Given the description of an element on the screen output the (x, y) to click on. 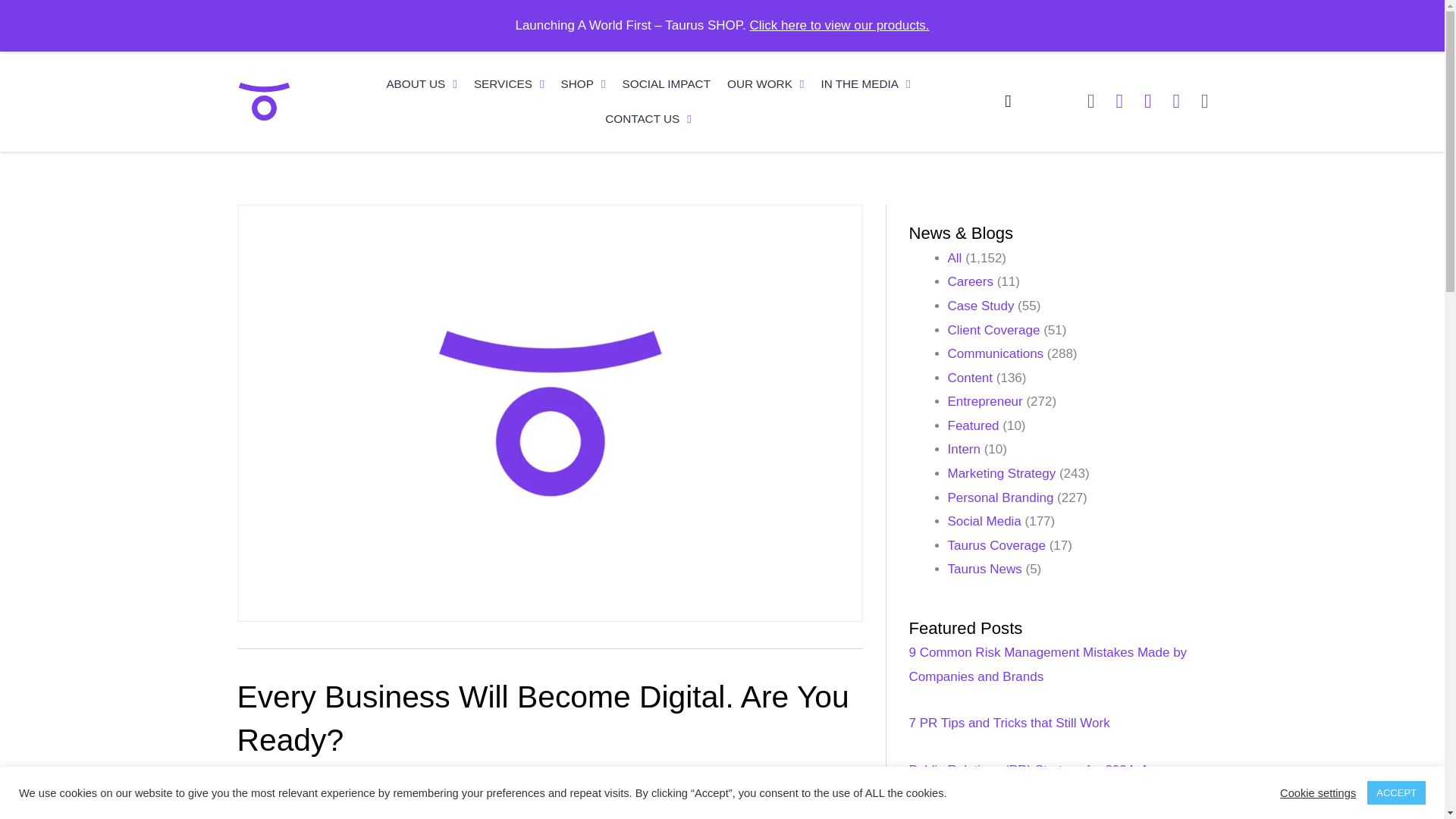
SHOP (583, 83)
OUR WORK (765, 83)
IN THE MEDIA (865, 83)
ABOUT US (421, 83)
Click here to view our products. (838, 25)
SOCIAL IMPACT (666, 83)
CONTACT US (648, 118)
SERVICES (509, 83)
